Given the description of an element on the screen output the (x, y) to click on. 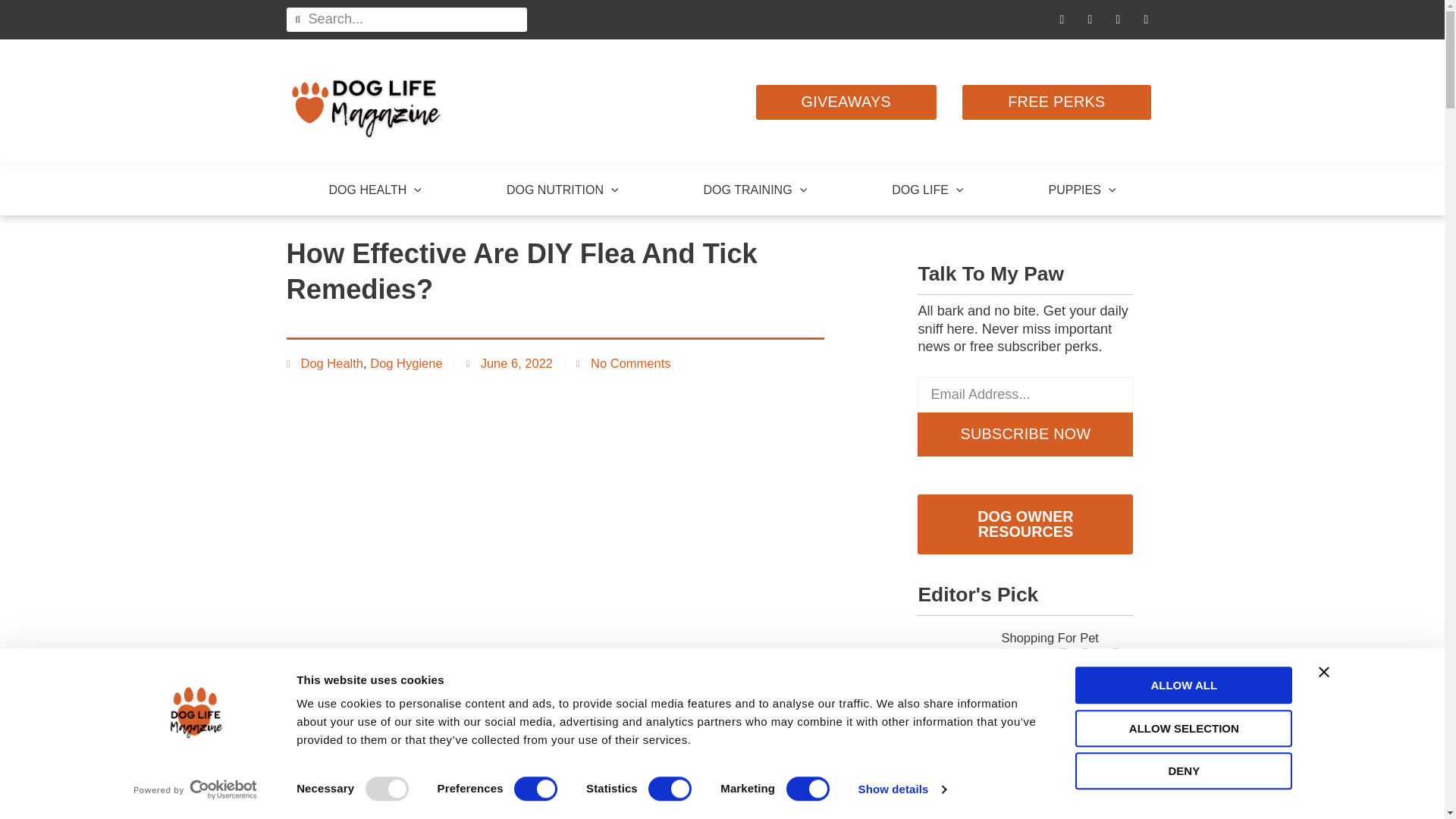
ALLOW SELECTION (1183, 728)
Facebook-f (1061, 19)
Tiktok (1090, 19)
DENY (1183, 770)
ALLOW ALL (1183, 684)
DLM Logo - 1000x500 - doglifemag.com (366, 102)
Show details (900, 789)
